Given the description of an element on the screen output the (x, y) to click on. 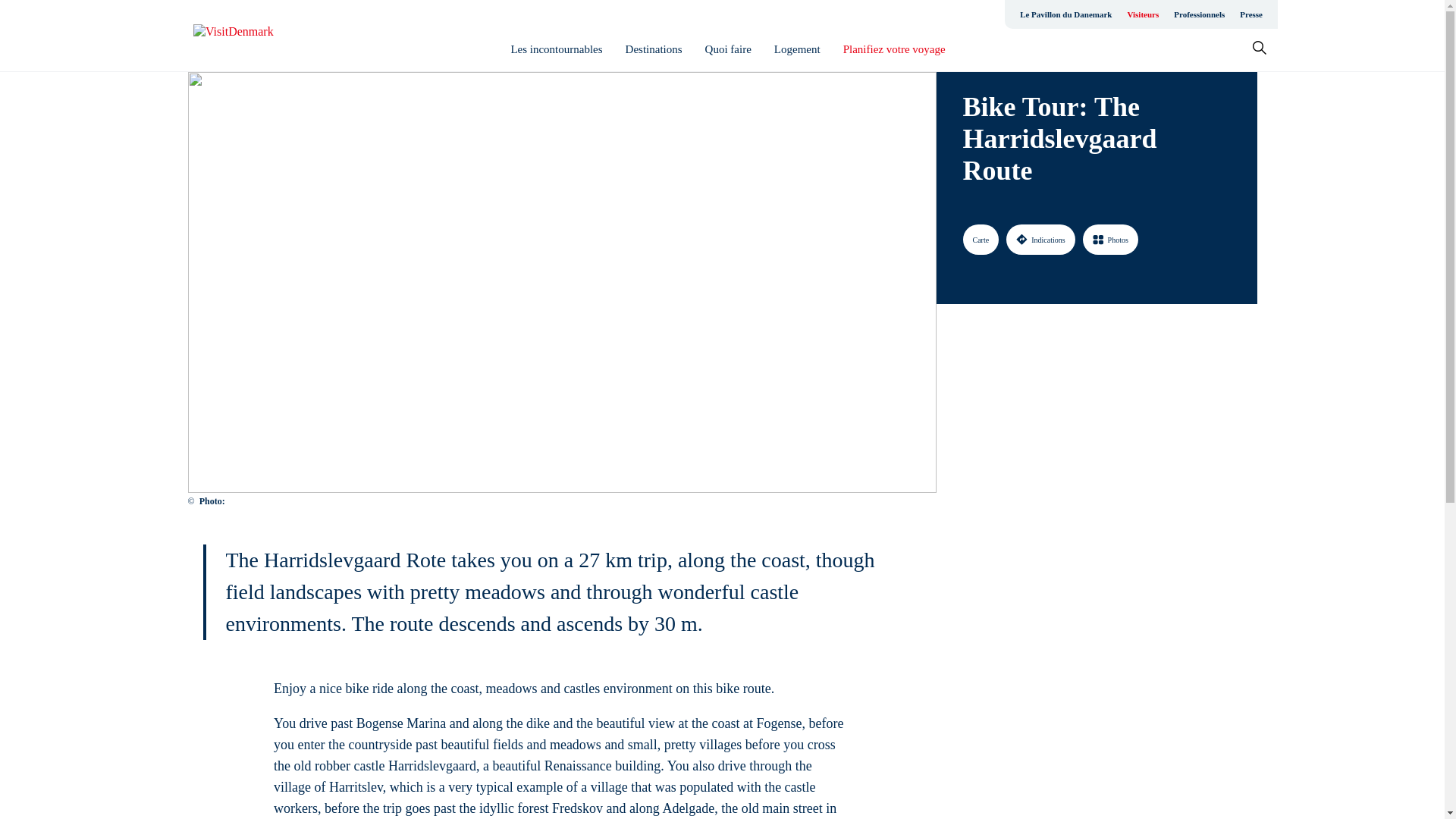
Indications (1040, 239)
Visiteurs (1142, 14)
Professionnels (1198, 14)
Destinations (654, 49)
Presse (1250, 14)
Logement (797, 49)
Carte (980, 239)
Quoi faire (727, 49)
Planifiez votre voyage (893, 49)
Le Pavillon du Danemark (1065, 14)
